Given the description of an element on the screen output the (x, y) to click on. 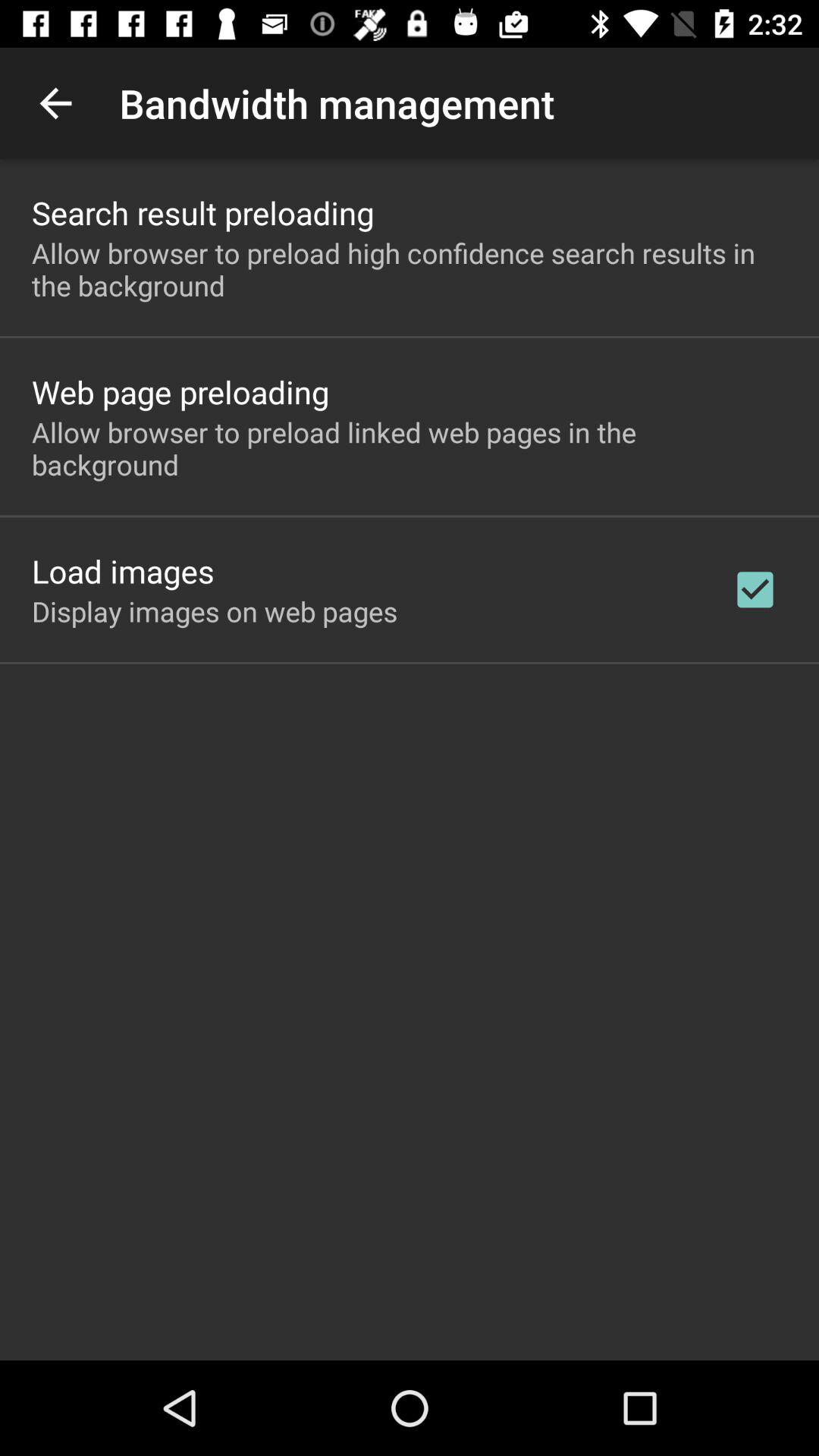
open app above the allow browser to app (180, 391)
